Given the description of an element on the screen output the (x, y) to click on. 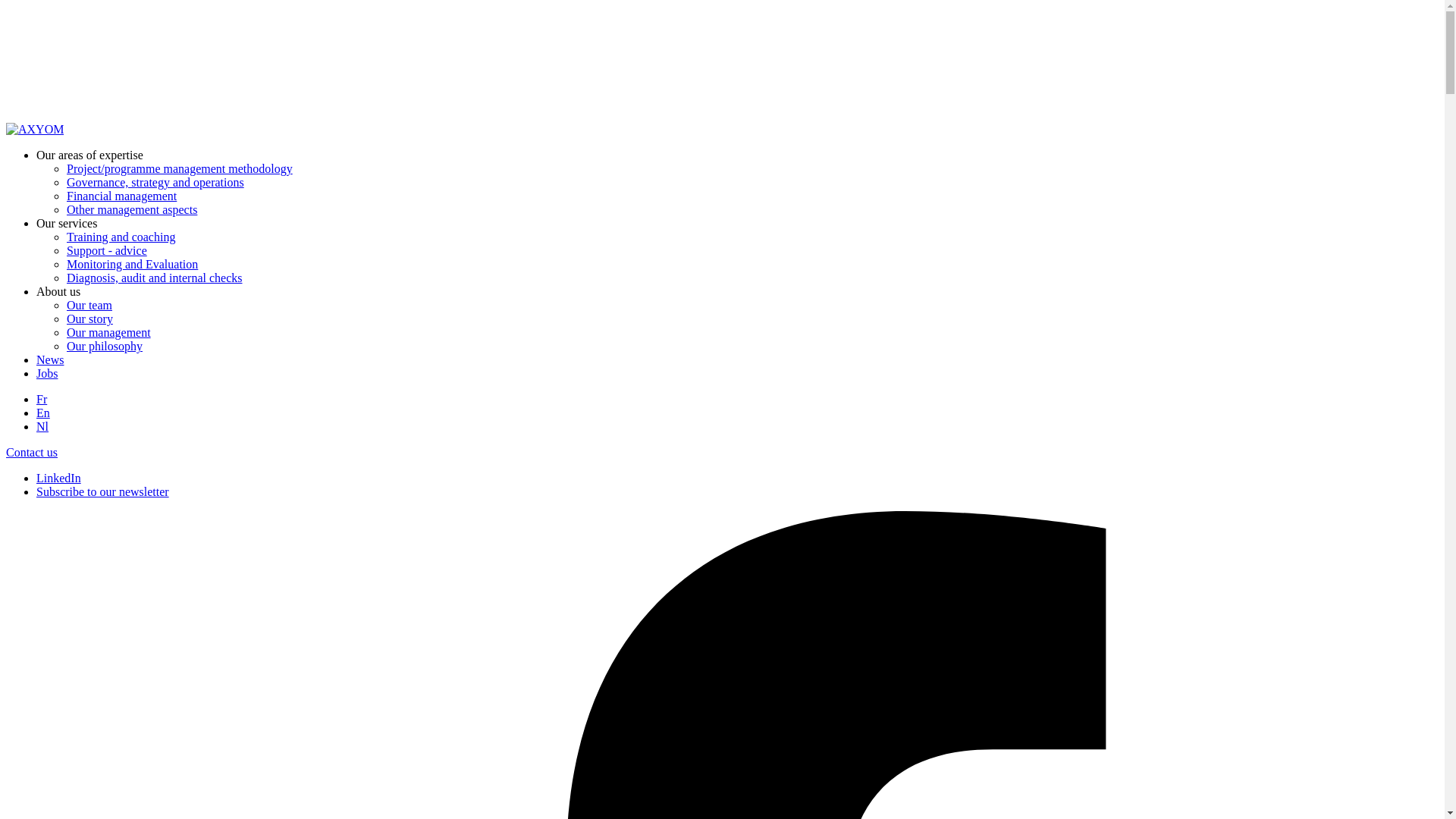
Training and coaching (120, 236)
Our team (89, 305)
Diagnosis, audit and internal checks (154, 277)
Our philosophy (104, 345)
Financial management (121, 195)
LinkedIn (58, 477)
Nl (42, 426)
Governance, strategy and operations (155, 182)
Subscribe to our newsletter (102, 491)
Contact us (31, 451)
